Given the description of an element on the screen output the (x, y) to click on. 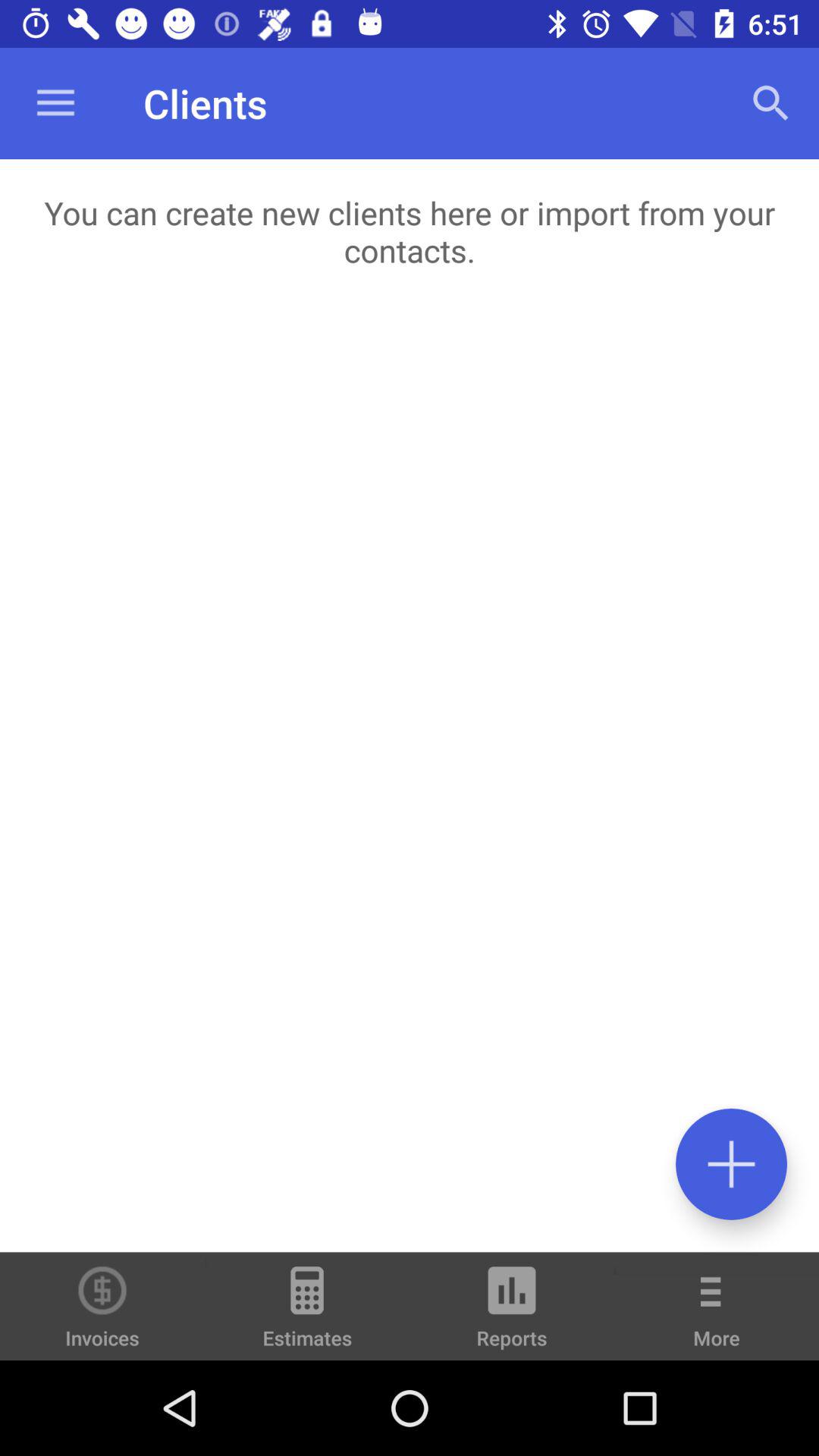
click estimates icon (306, 1313)
